Given the description of an element on the screen output the (x, y) to click on. 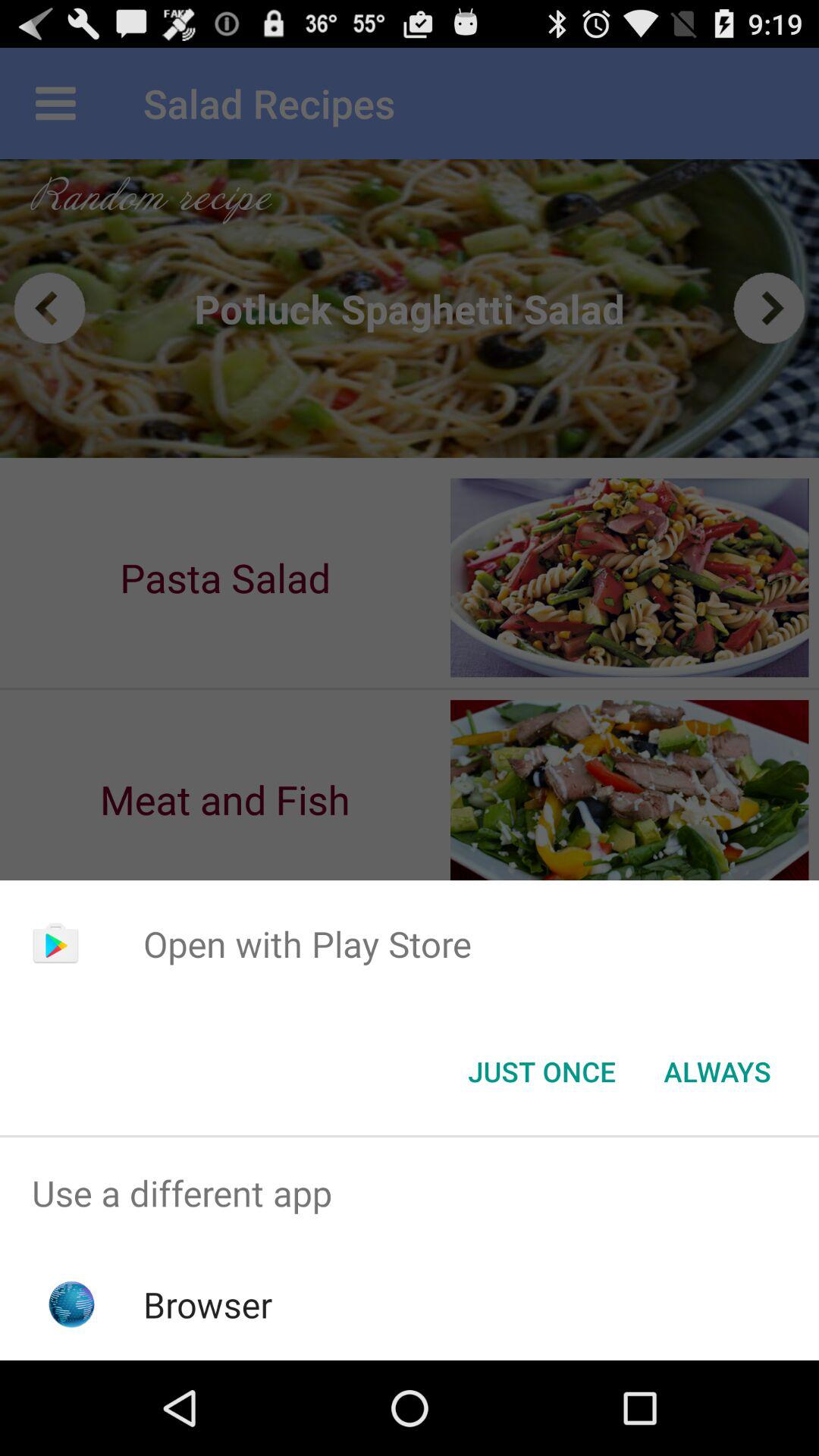
choose the icon below the open with play item (541, 1071)
